Given the description of an element on the screen output the (x, y) to click on. 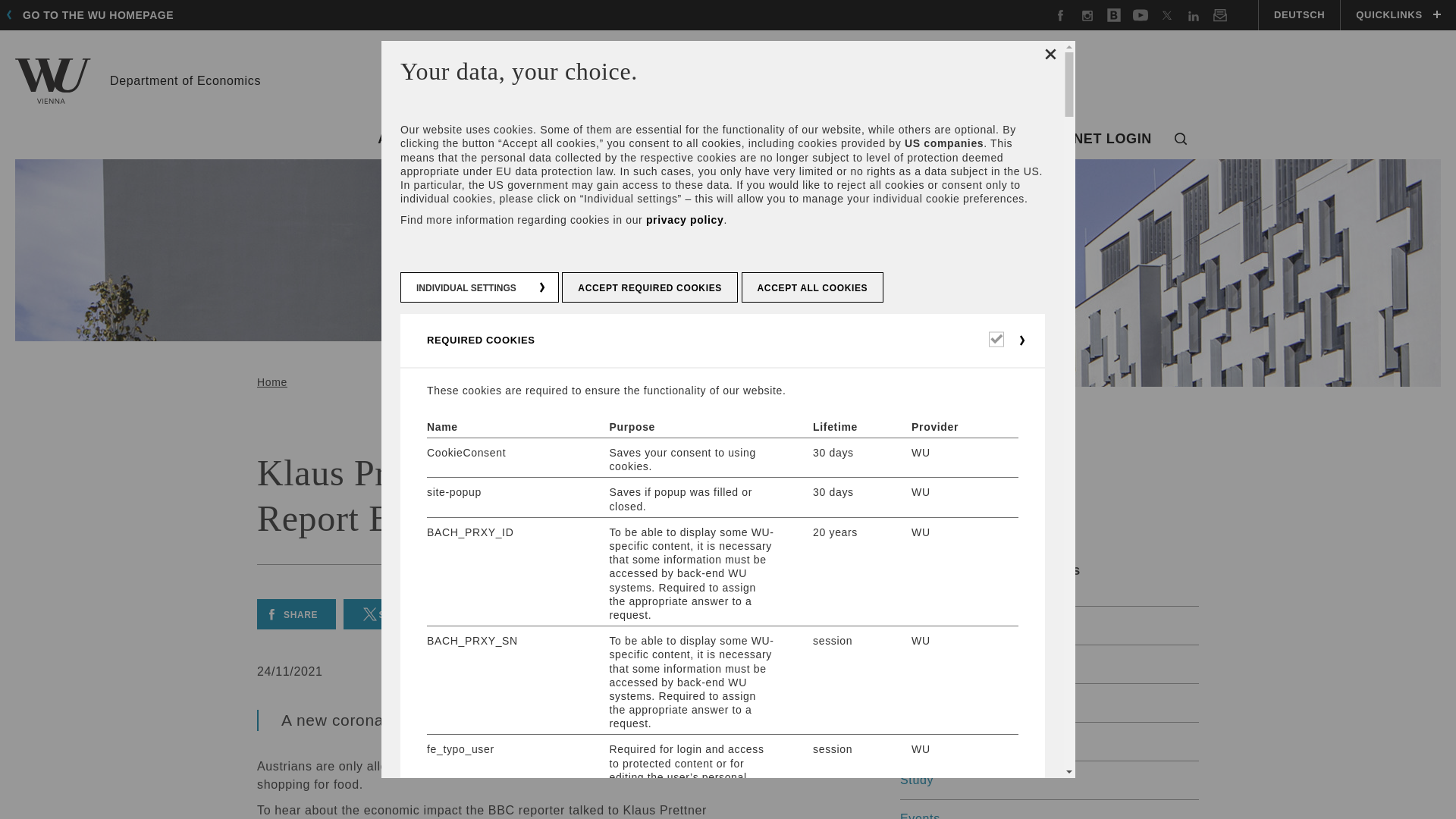
LinkedIn (1193, 13)
LinkedIn (1193, 13)
RESEARCH (784, 140)
Facebook (1060, 13)
YouTube (1140, 13)
Facebook (1060, 13)
DEUTSCH (1298, 15)
Instagram (1087, 13)
Newsletter (1219, 13)
X (1166, 13)
Newsletter (1219, 13)
GO TO THE WU HOMEPAGE (94, 15)
PEOPLE (682, 140)
NEWS (609, 140)
Search (1180, 140)
